Given the description of an element on the screen output the (x, y) to click on. 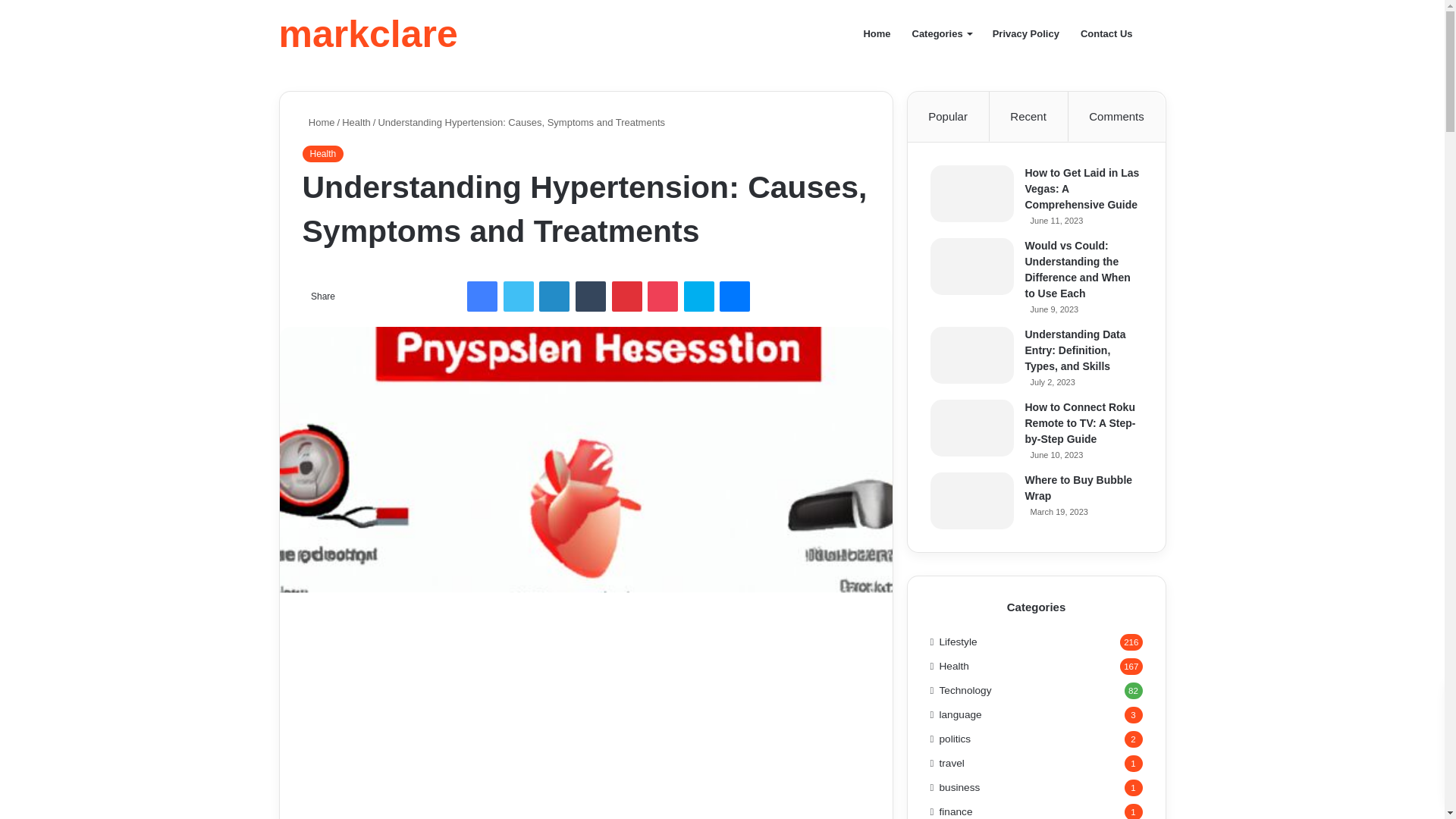
Health (322, 153)
Twitter (518, 296)
Pocket (662, 296)
markclare (368, 34)
Contact Us (1106, 33)
Pinterest (626, 296)
Twitter (518, 296)
Skype (699, 296)
Skype (699, 296)
markclare (368, 34)
LinkedIn (553, 296)
Home (317, 122)
LinkedIn (553, 296)
Categories (941, 33)
Facebook (482, 296)
